Given the description of an element on the screen output the (x, y) to click on. 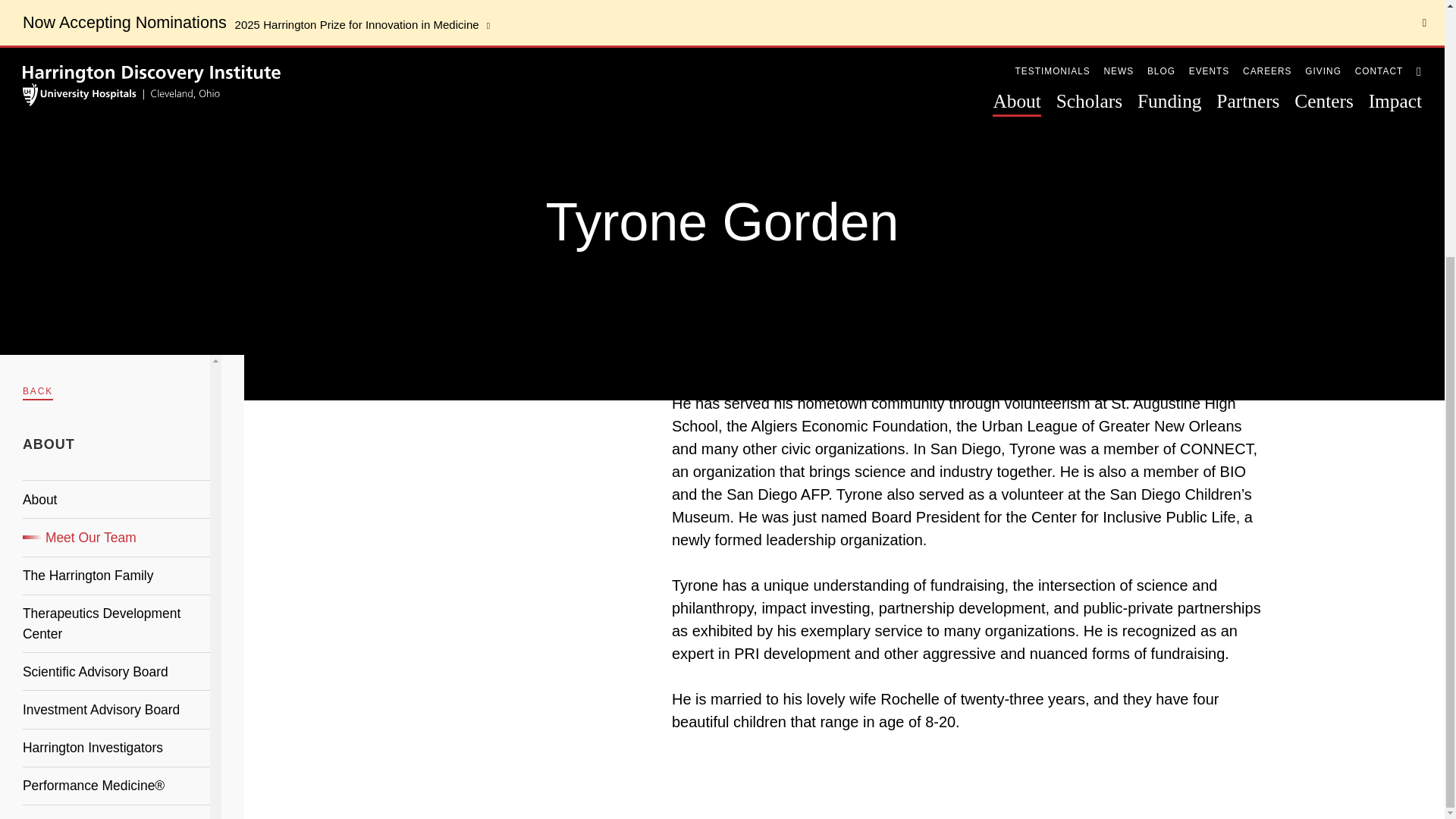
Therapeutics Development Center (101, 257)
About (40, 134)
BACK (37, 26)
The Harrington Family (88, 210)
Meet Our Team (79, 171)
Scientific Advisory Board (95, 306)
Investment Advisory Board (101, 343)
